Given the description of an element on the screen output the (x, y) to click on. 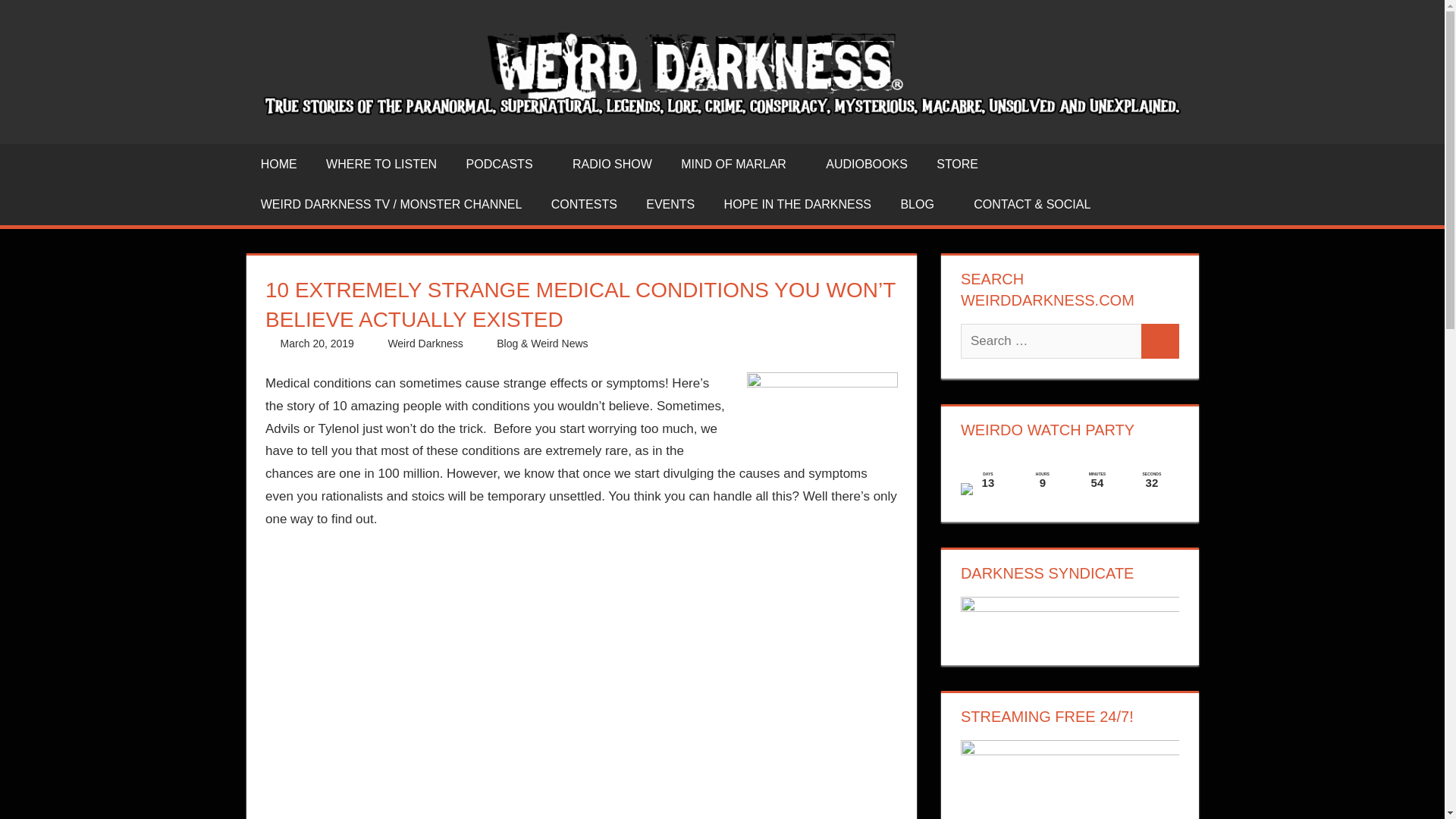
AUDIOBOOKS (865, 164)
WHERE TO LISTEN (381, 164)
STORE (956, 164)
PODCASTS (504, 164)
RADIO SHOW (611, 164)
HOME (278, 164)
Search for: (1050, 340)
MIND OF MARLAR (738, 164)
10:53 am (317, 343)
View all posts by Weird Darkness (425, 343)
